Given the description of an element on the screen output the (x, y) to click on. 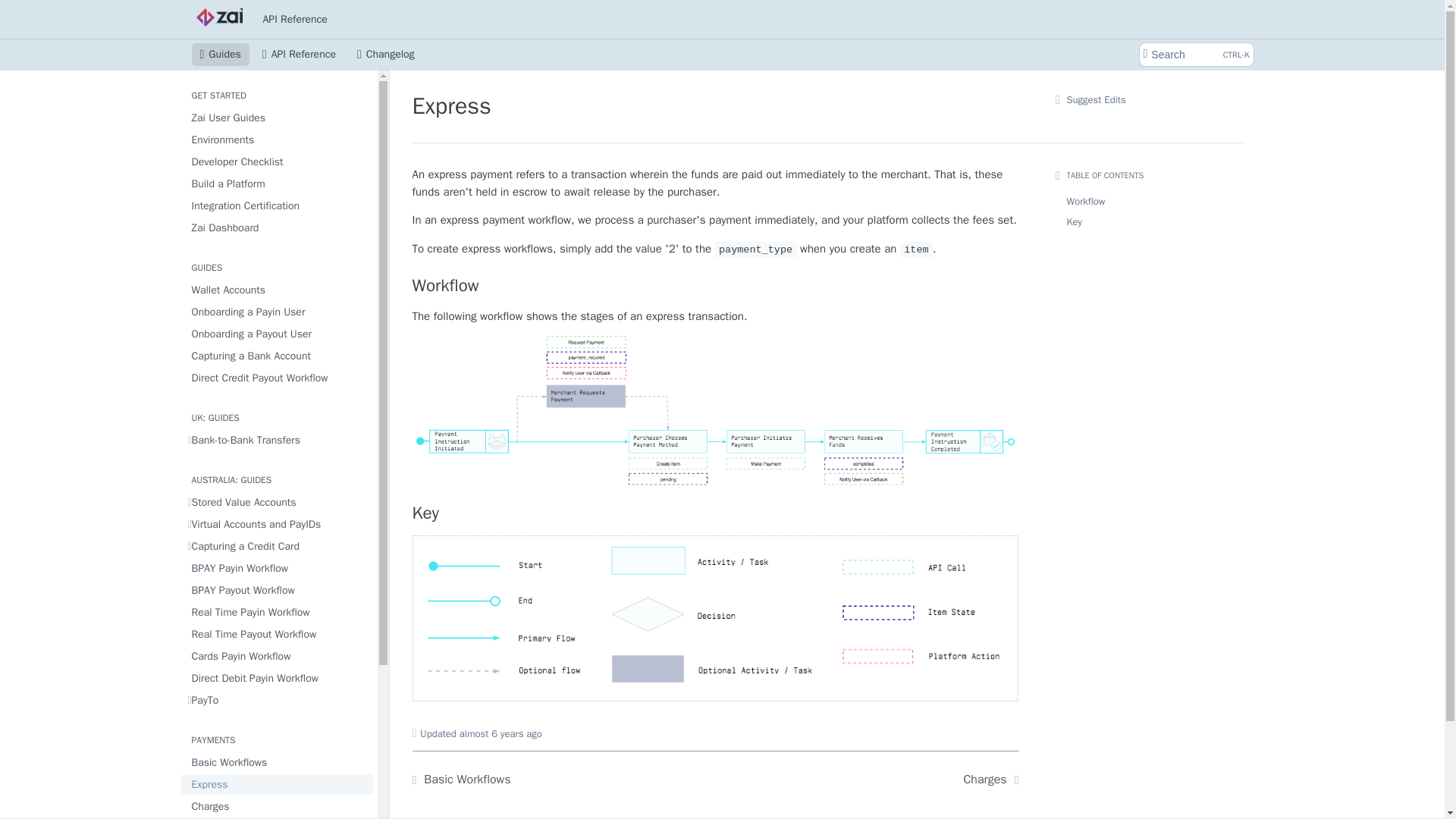
Workflow (715, 285)
Key (715, 513)
Onboarding a Payin User (277, 312)
Build a Platform (277, 183)
Capturing a Credit Card (277, 546)
API Reference (295, 18)
Developer Checklist (277, 161)
Capturing a Bank Account (277, 355)
Onboarding a Payout User (277, 333)
Wallet Accounts (277, 290)
